Given the description of an element on the screen output the (x, y) to click on. 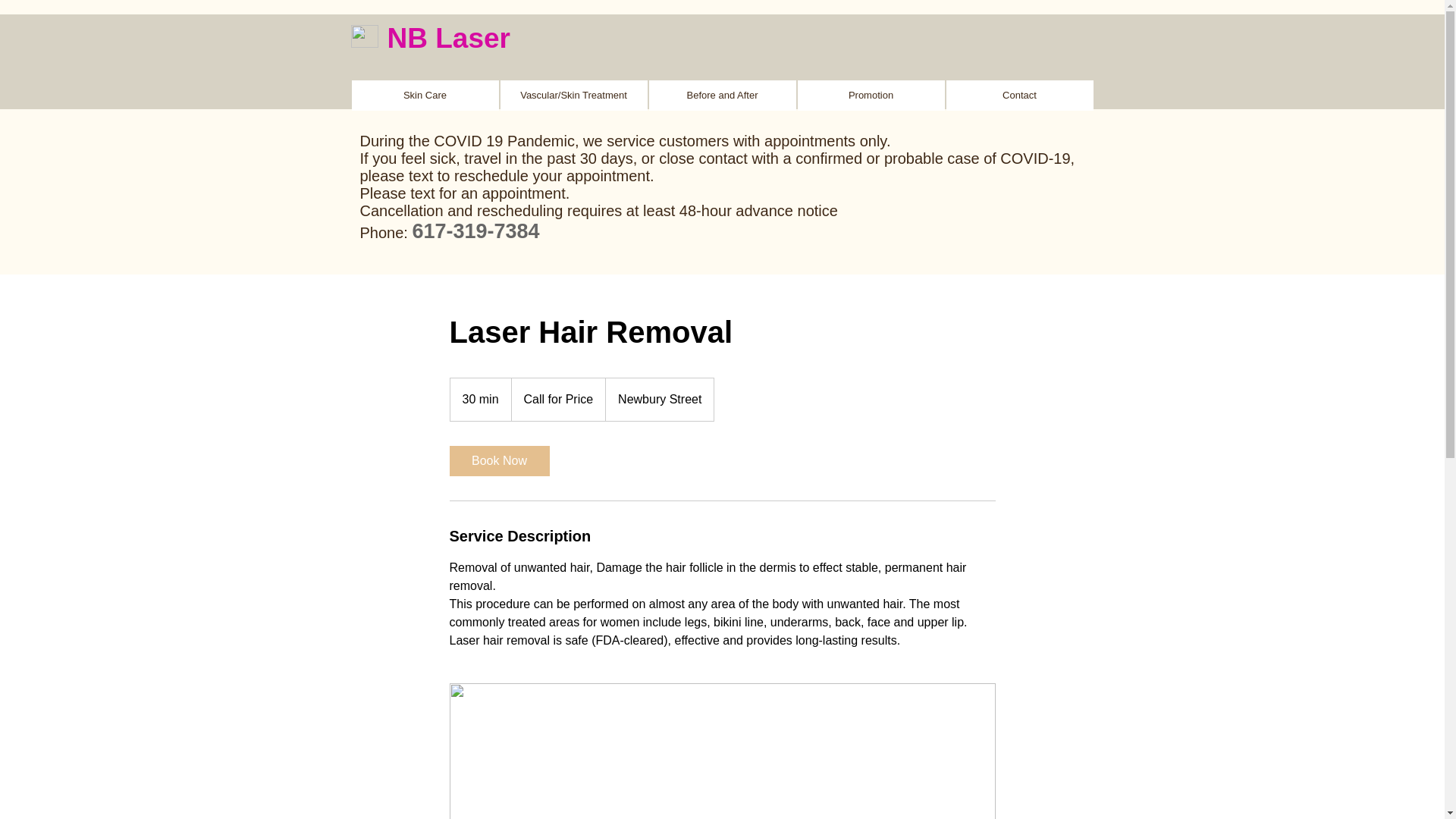
Book Now (498, 460)
Before and After (722, 95)
Contact (1019, 95)
Promotion (870, 95)
NB Laser (448, 38)
Skin Care (425, 95)
